Given the description of an element on the screen output the (x, y) to click on. 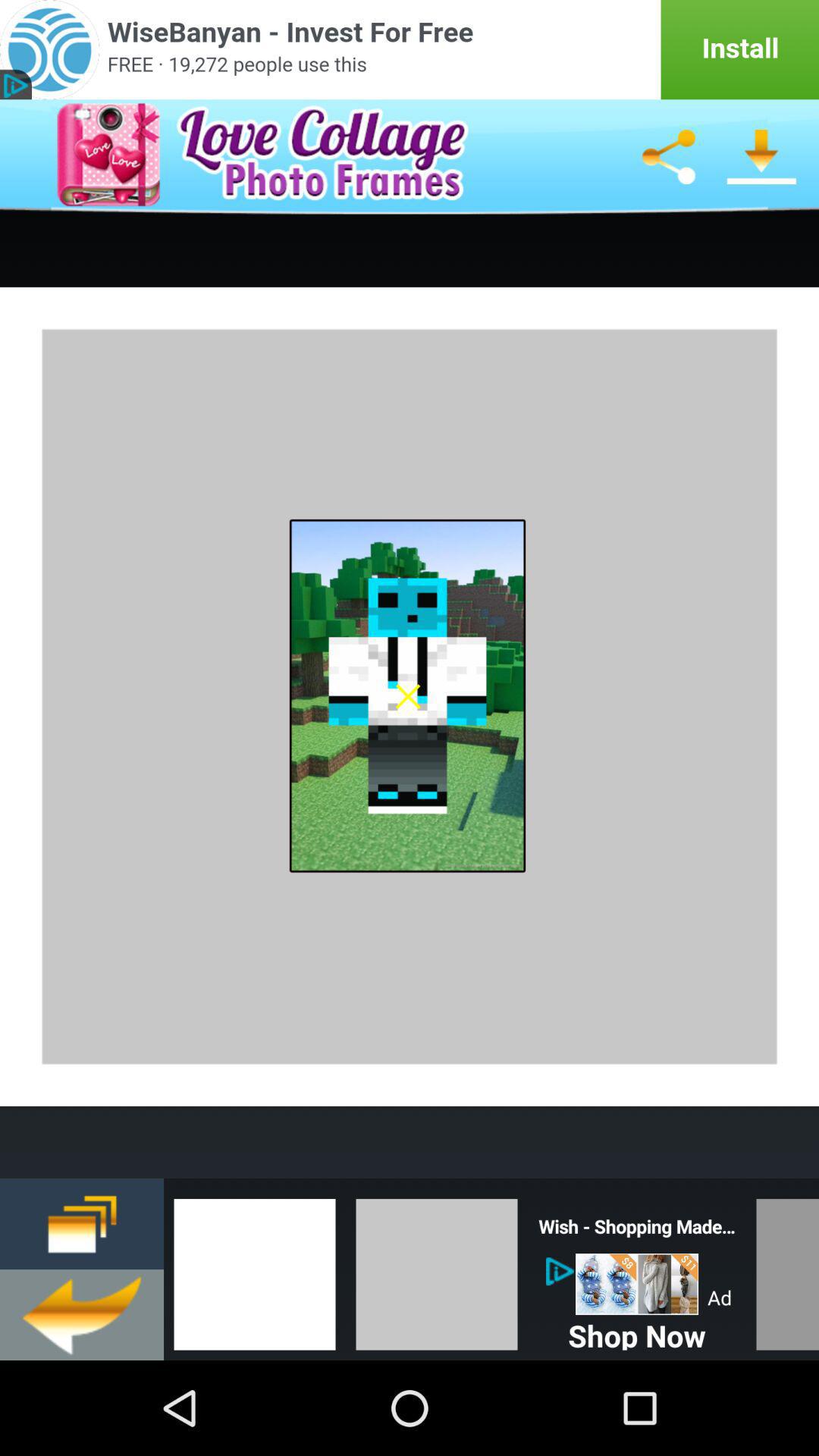
previous image (254, 1269)
